Given the description of an element on the screen output the (x, y) to click on. 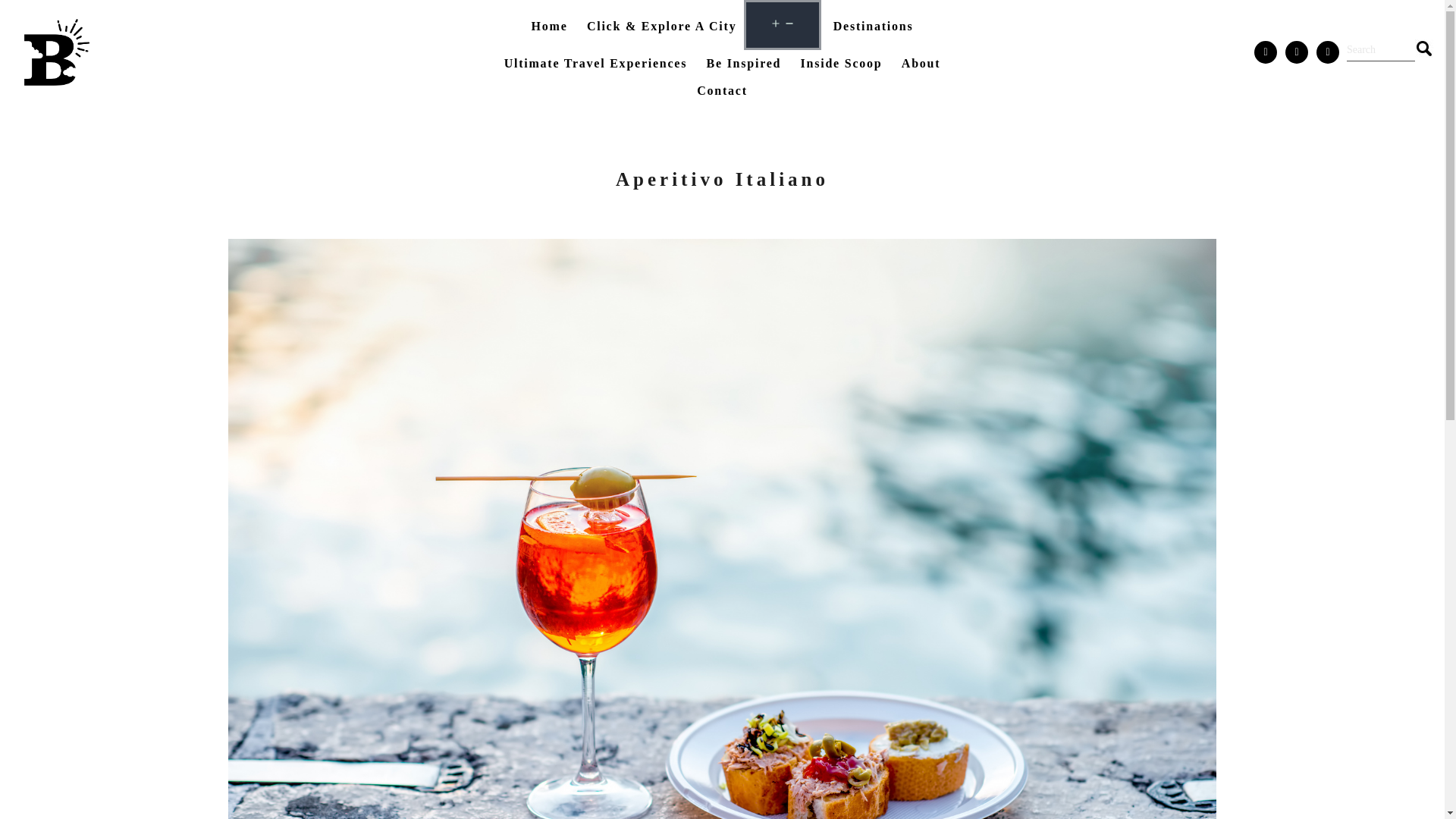
Open menu (782, 24)
Home (549, 26)
Search (1423, 48)
